Given the description of an element on the screen output the (x, y) to click on. 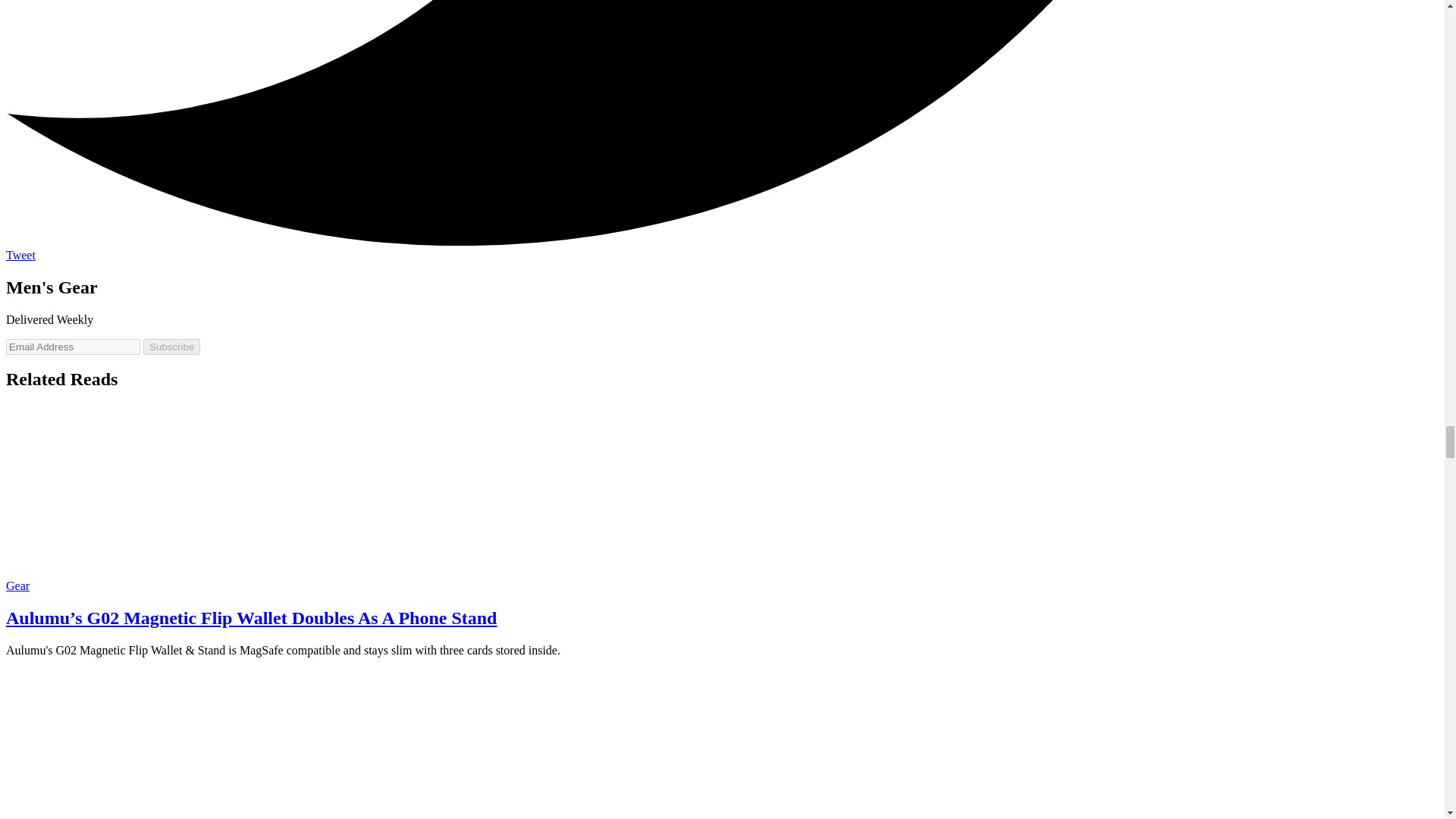
Subscribe (171, 346)
Gear (17, 585)
